Given the description of an element on the screen output the (x, y) to click on. 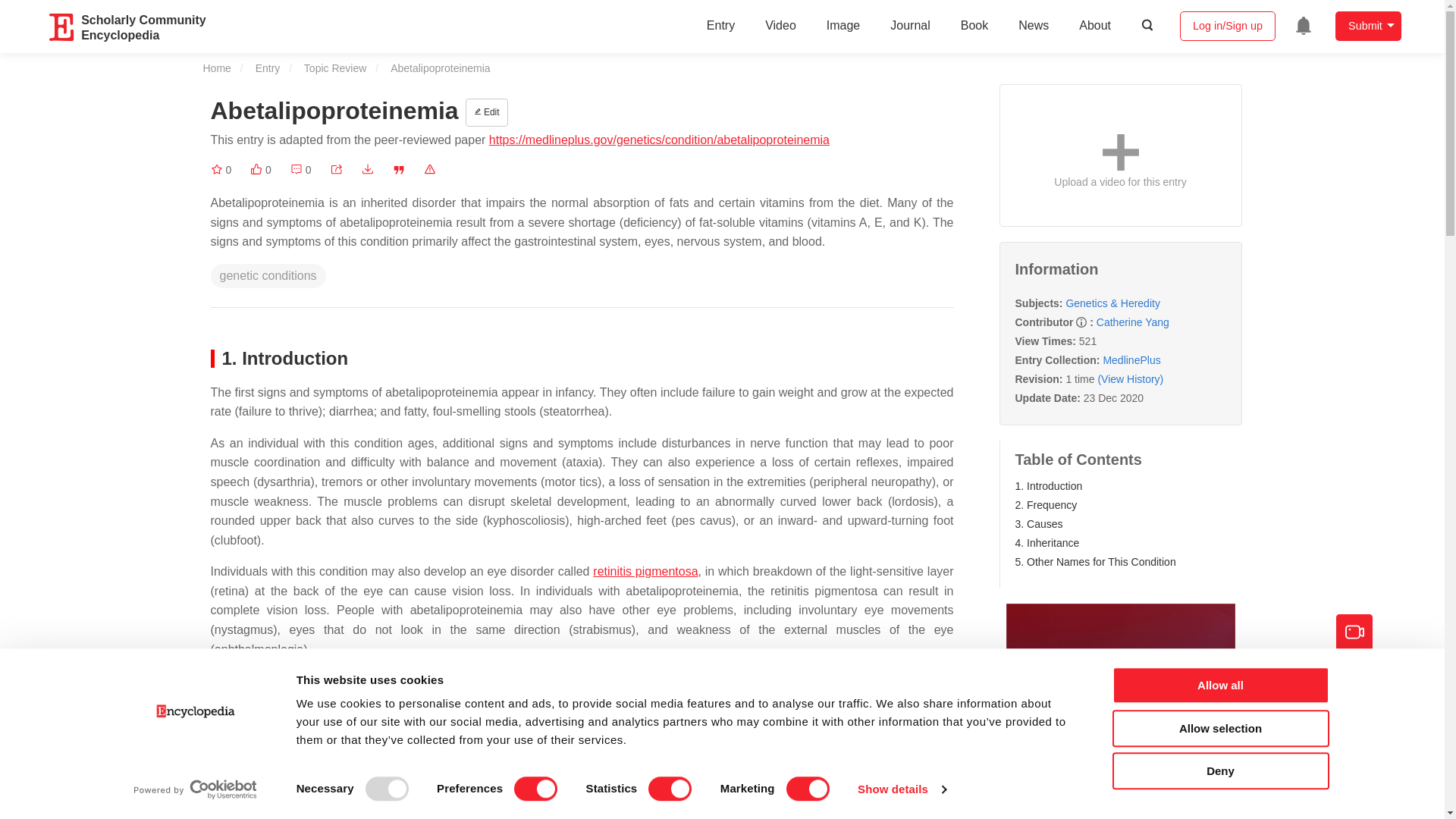
Like (260, 169)
Comment (300, 169)
Show details (900, 789)
Favorite (221, 169)
Edit (486, 112)
